Given the description of an element on the screen output the (x, y) to click on. 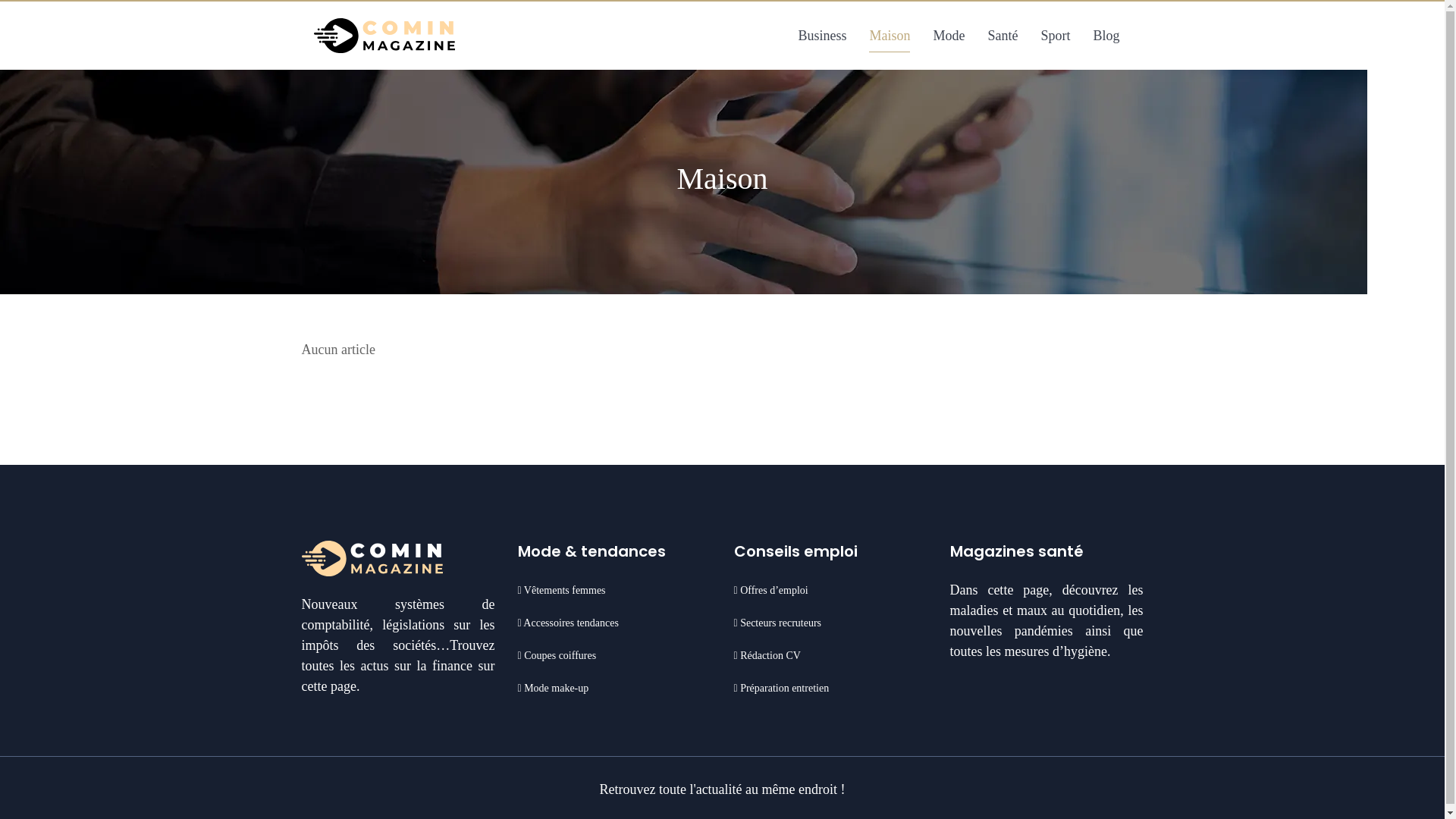
Mode Element type: text (948, 35)
Blog Element type: text (1105, 35)
Maison Element type: text (889, 35)
Business Element type: text (821, 35)
Sport Element type: text (1055, 35)
